Given the description of an element on the screen output the (x, y) to click on. 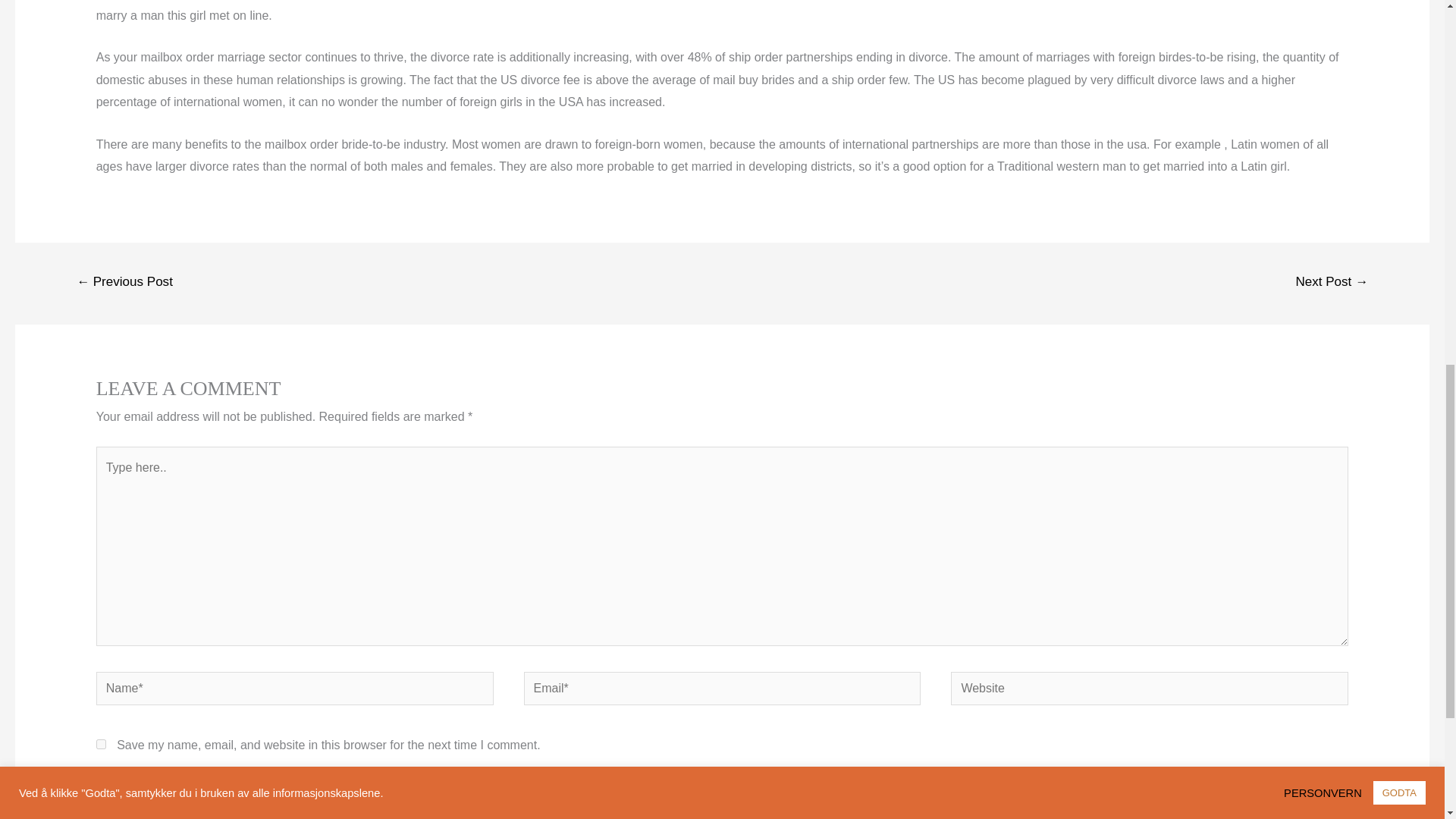
yes (101, 744)
